Given the description of an element on the screen output the (x, y) to click on. 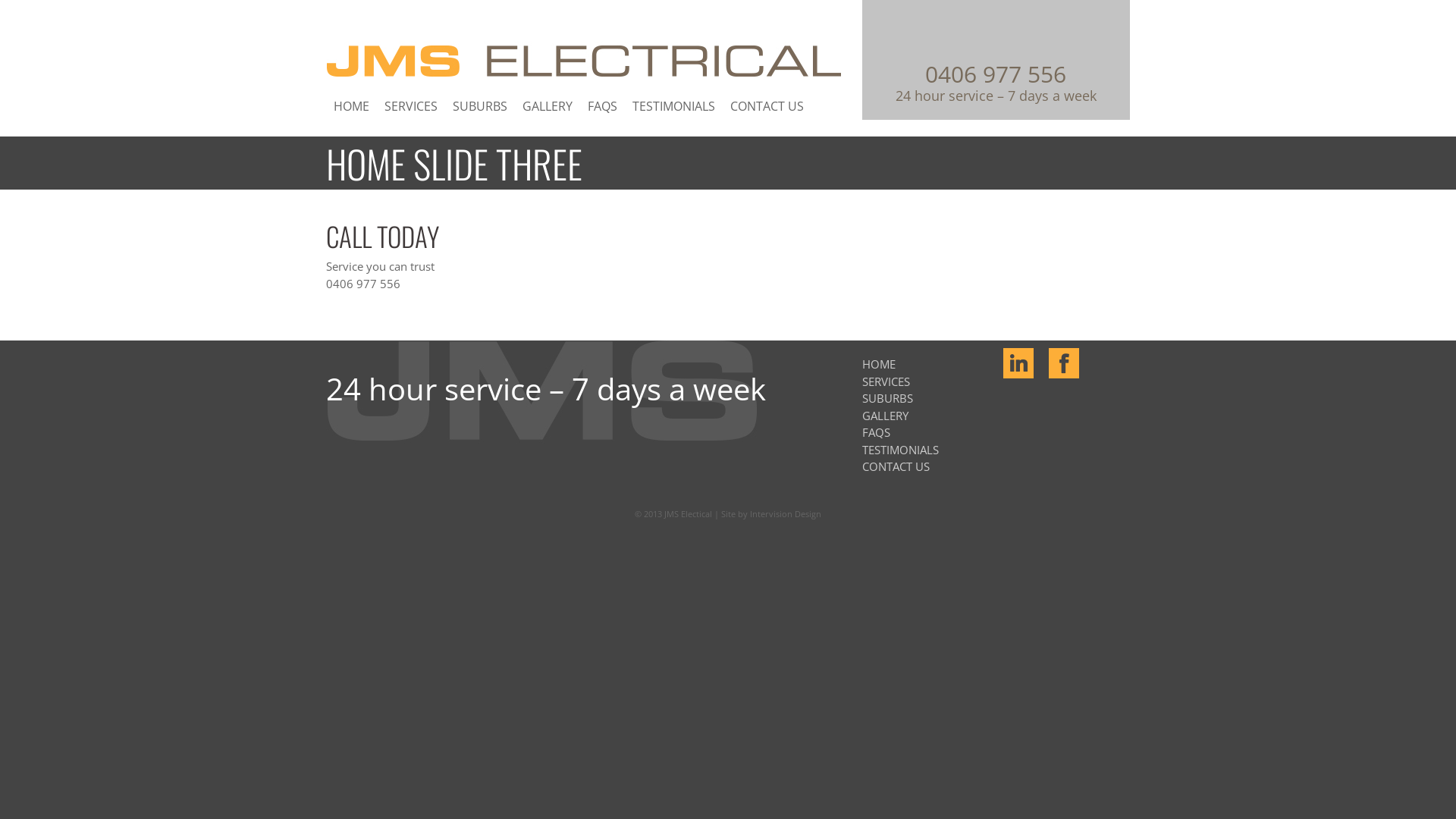
Intervision Design Element type: text (785, 513)
FAQS Element type: text (876, 431)
FAQS Element type: text (602, 106)
GALLERY Element type: text (885, 415)
TESTIMONIALS Element type: text (900, 449)
SERVICES Element type: text (410, 106)
GALLERY Element type: text (547, 106)
SUBURBS Element type: text (887, 397)
CONTACT US Element type: text (895, 465)
CONTACT US Element type: text (766, 106)
TESTIMONIALS Element type: text (673, 106)
HOME Element type: text (351, 106)
SERVICES Element type: text (886, 381)
SUBURBS Element type: text (479, 106)
HOME Element type: text (878, 363)
